Given the description of an element on the screen output the (x, y) to click on. 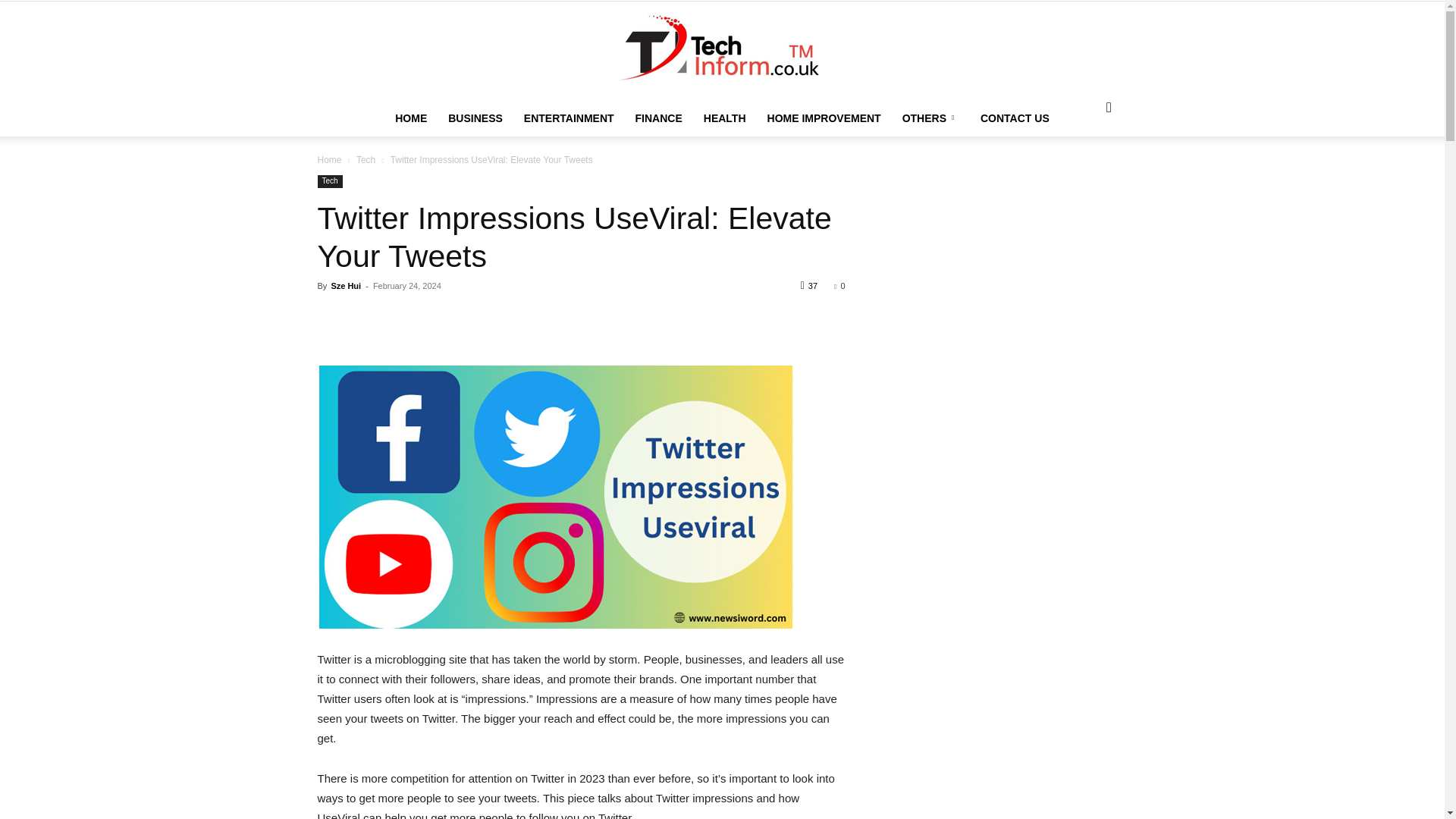
HOME (411, 117)
View all posts in Tech (365, 159)
HOME IMPROVEMENT (824, 117)
CONTACT US (1014, 117)
Search (1085, 156)
OTHERS (930, 117)
BUSINESS (475, 117)
HEALTH (725, 117)
twitter impressions useviral (555, 496)
Tech (329, 181)
